Given the description of an element on the screen output the (x, y) to click on. 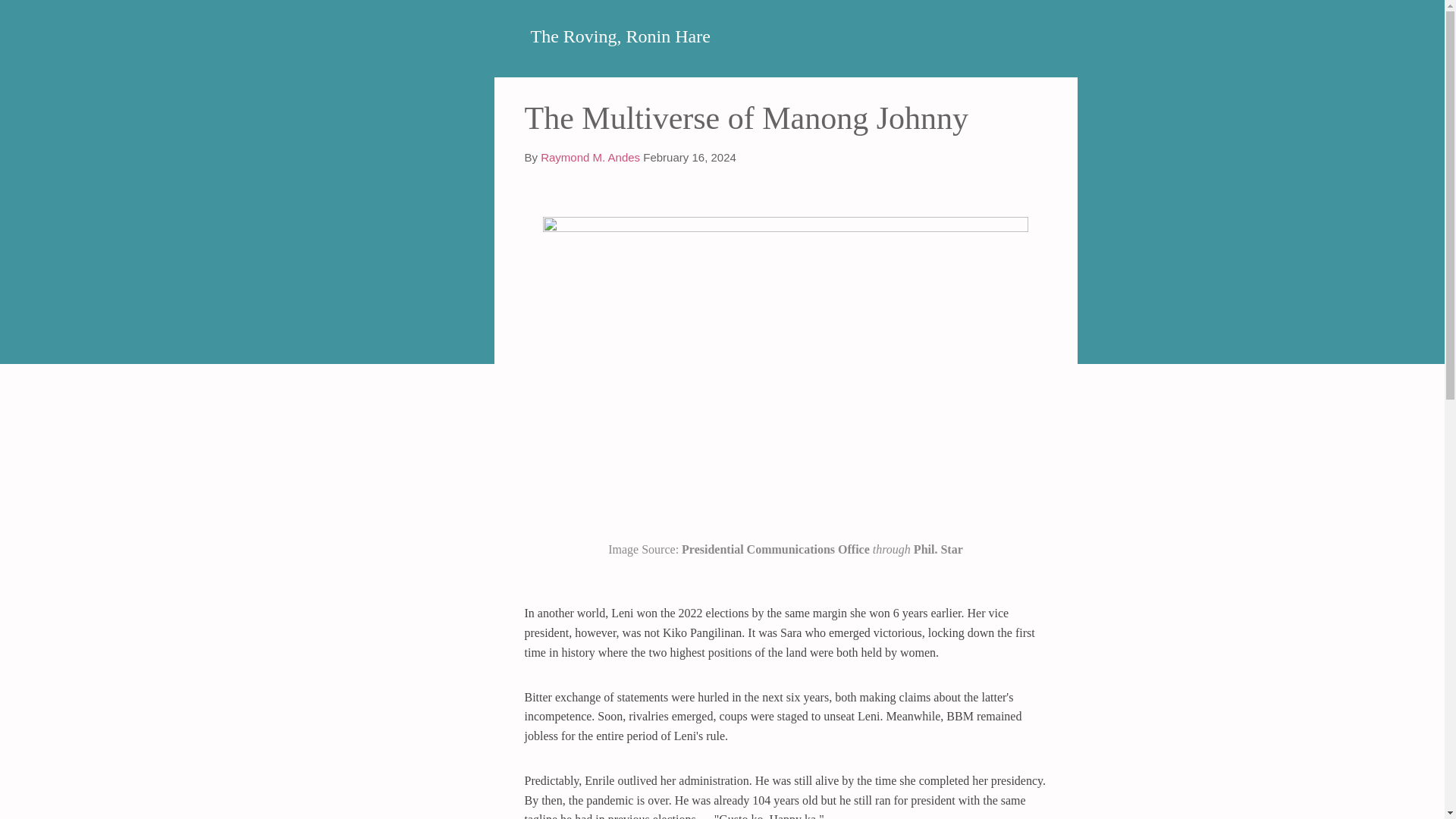
Search (29, 18)
author profile (590, 156)
February 16, 2024 (689, 156)
The Roving, Ronin Hare (620, 35)
permanent link (689, 156)
Raymond M. Andes (590, 156)
